Given the description of an element on the screen output the (x, y) to click on. 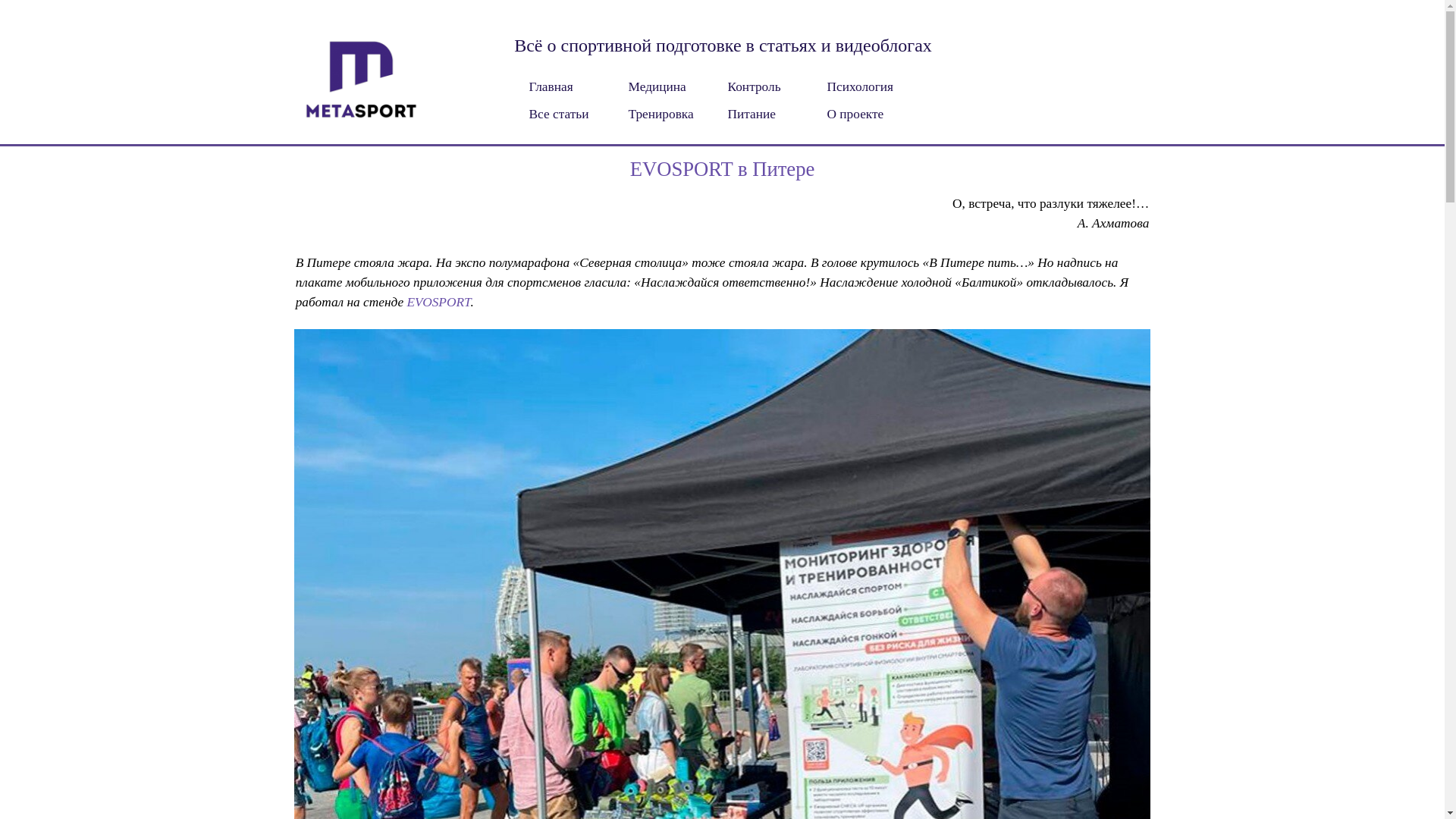
EVOSPORT Element type: text (438, 301)
